Given the description of an element on the screen output the (x, y) to click on. 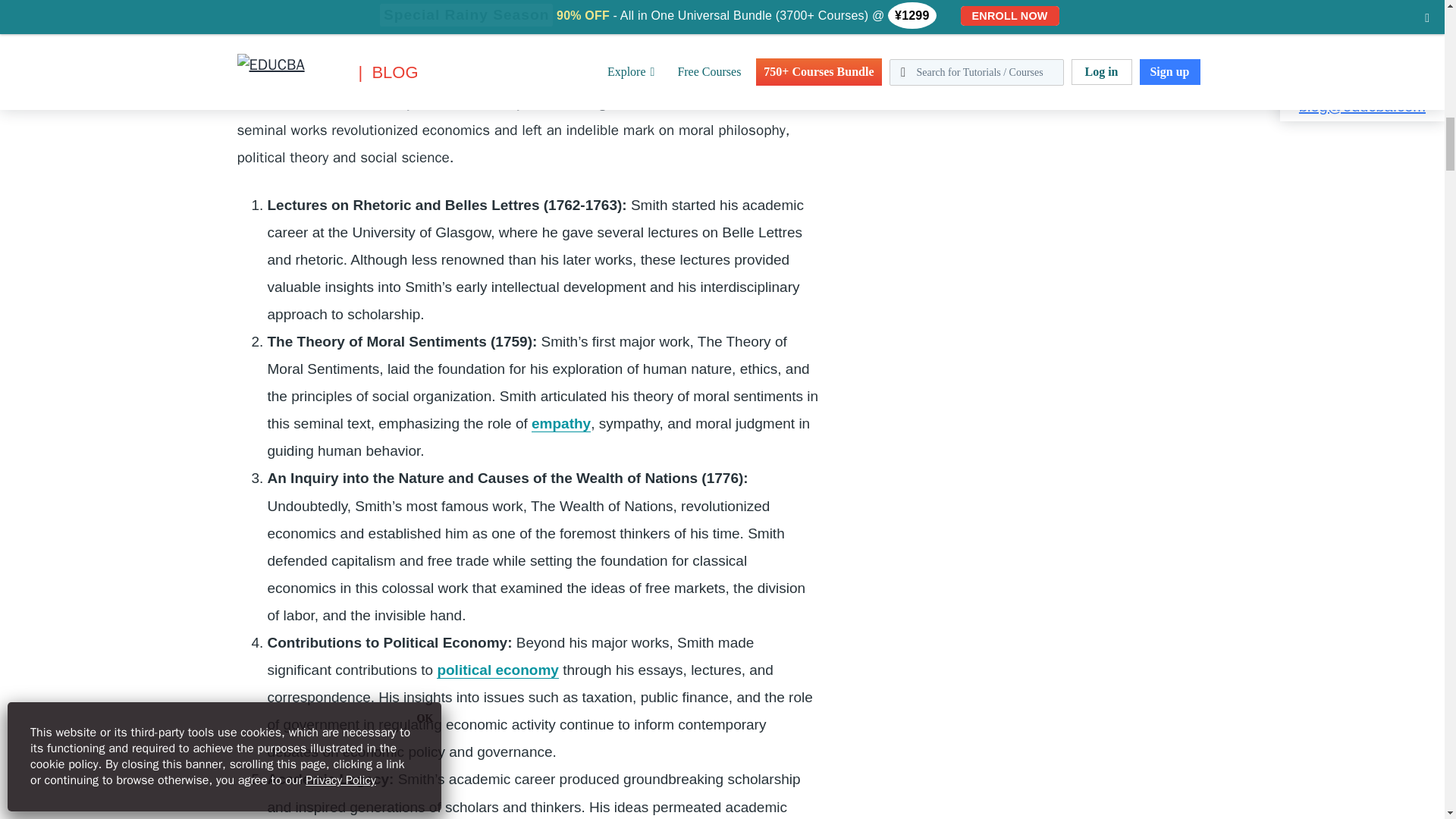
political economy (496, 669)
empathy (561, 423)
